Given the description of an element on the screen output the (x, y) to click on. 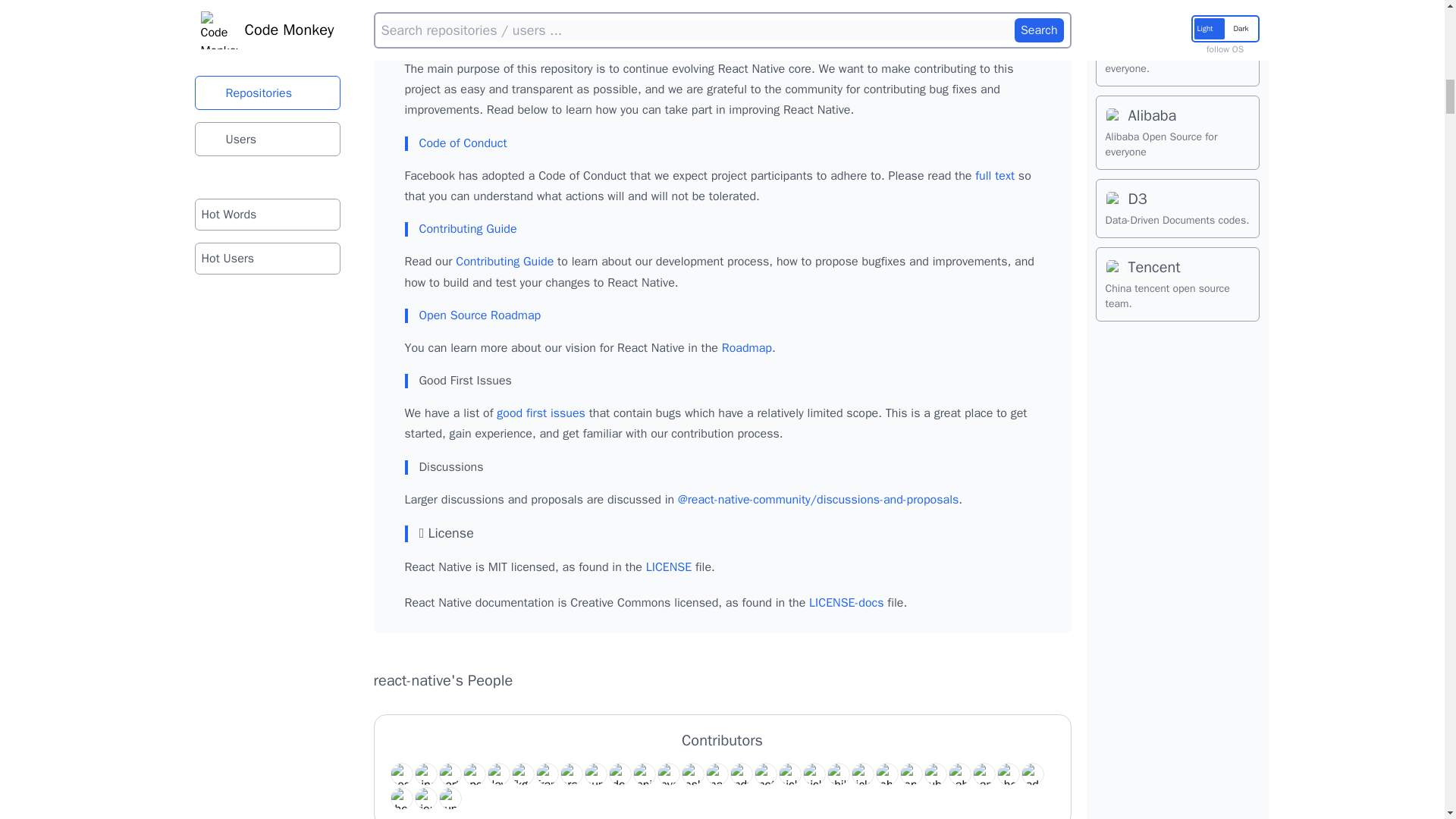
joshuagross (692, 773)
mdvacca (740, 773)
hramos (570, 773)
bestander (401, 773)
huntie (595, 773)
philiip (837, 773)
janicduplessis (643, 773)
javache (667, 773)
ide (619, 773)
fkgozali (522, 773)
cortinico (449, 773)
nickgerleman (788, 773)
martinbigio (716, 773)
cpojer (473, 773)
davidaurelio (497, 773)
